Given the description of an element on the screen output the (x, y) to click on. 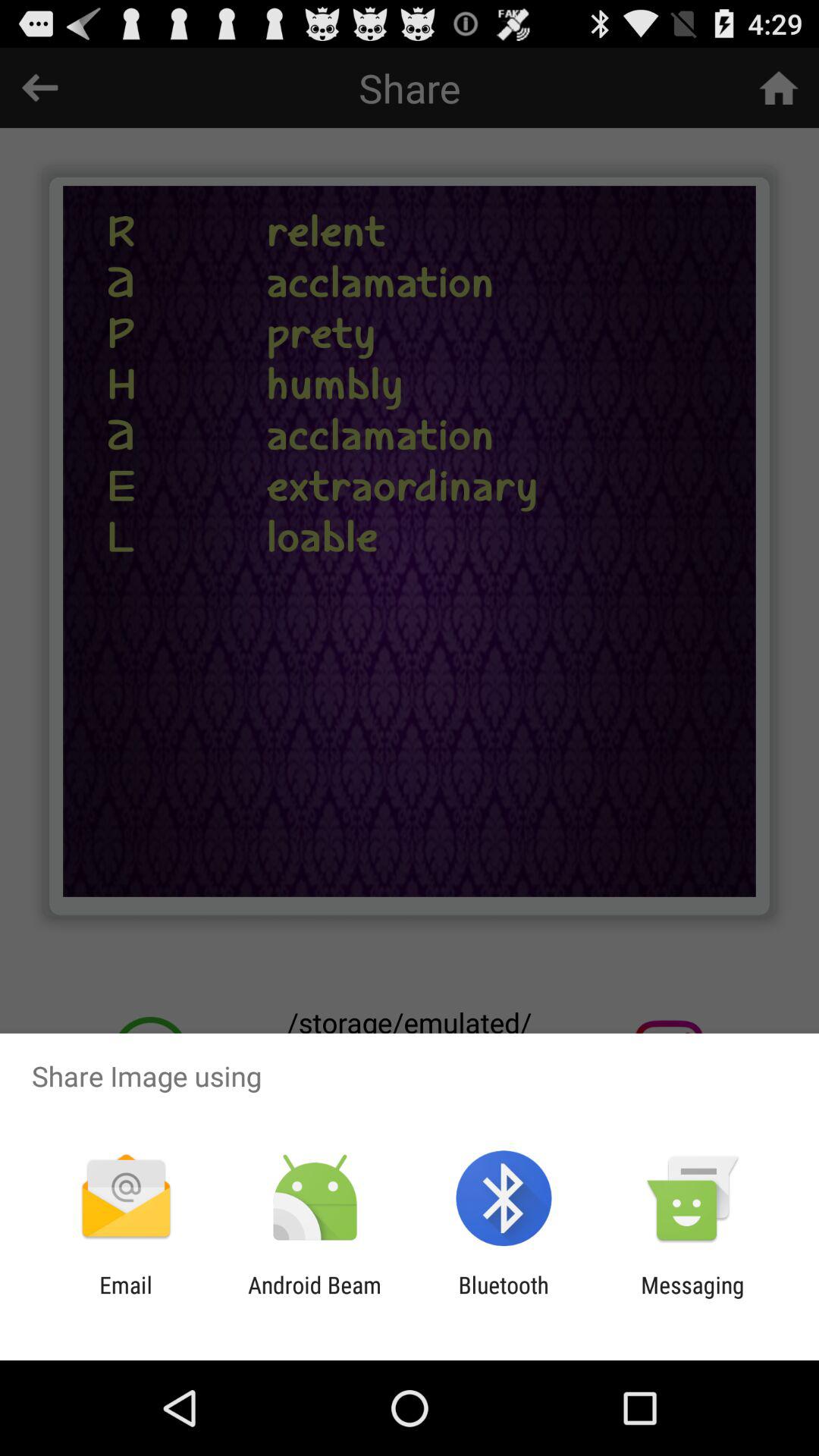
tap the item to the right of the bluetooth app (692, 1298)
